Given the description of an element on the screen output the (x, y) to click on. 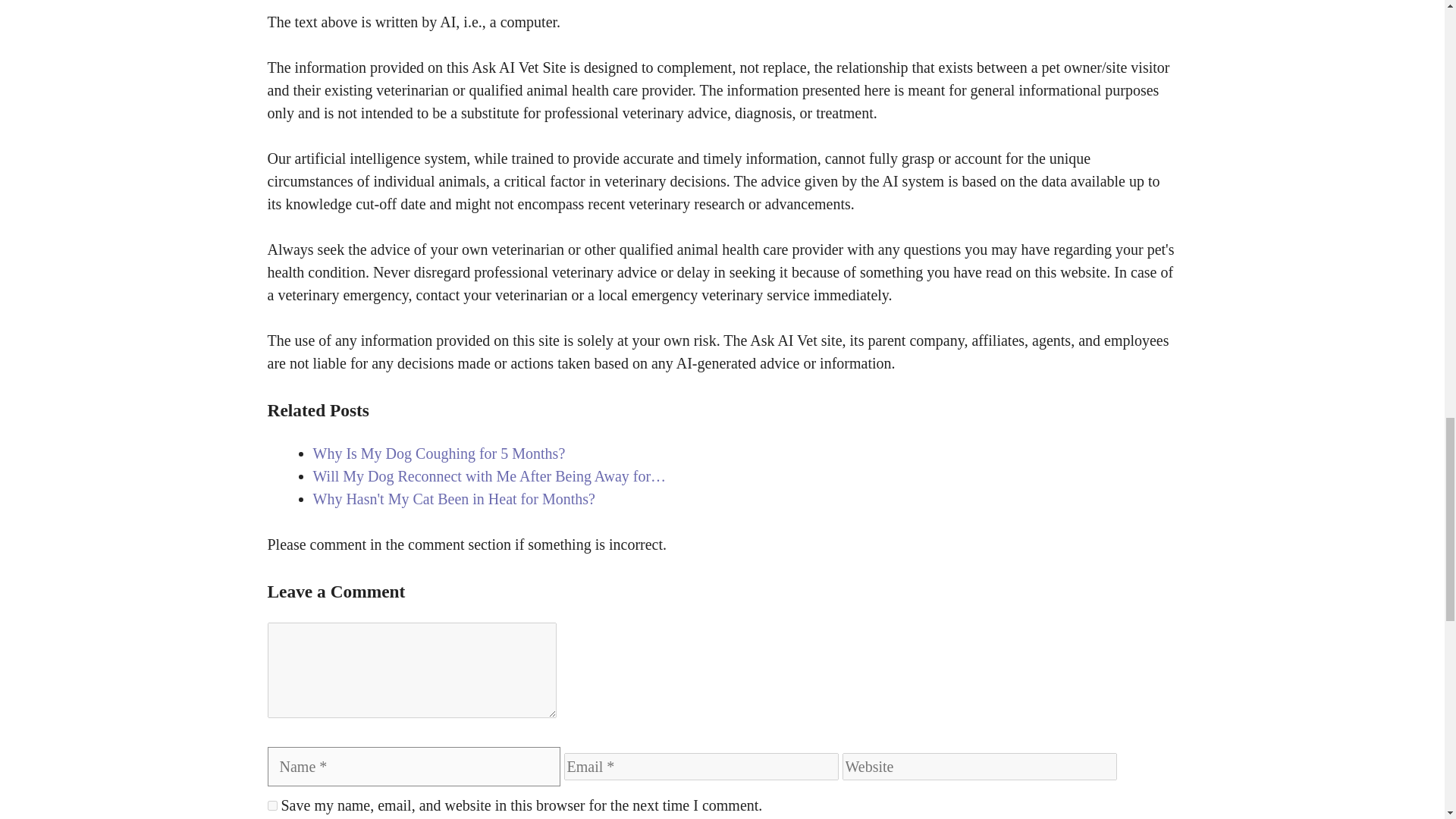
yes (271, 805)
Why Is My Dog Coughing for 5 Months? (438, 452)
Why Hasn't My Cat Been in Heat for Months? (453, 497)
